Given the description of an element on the screen output the (x, y) to click on. 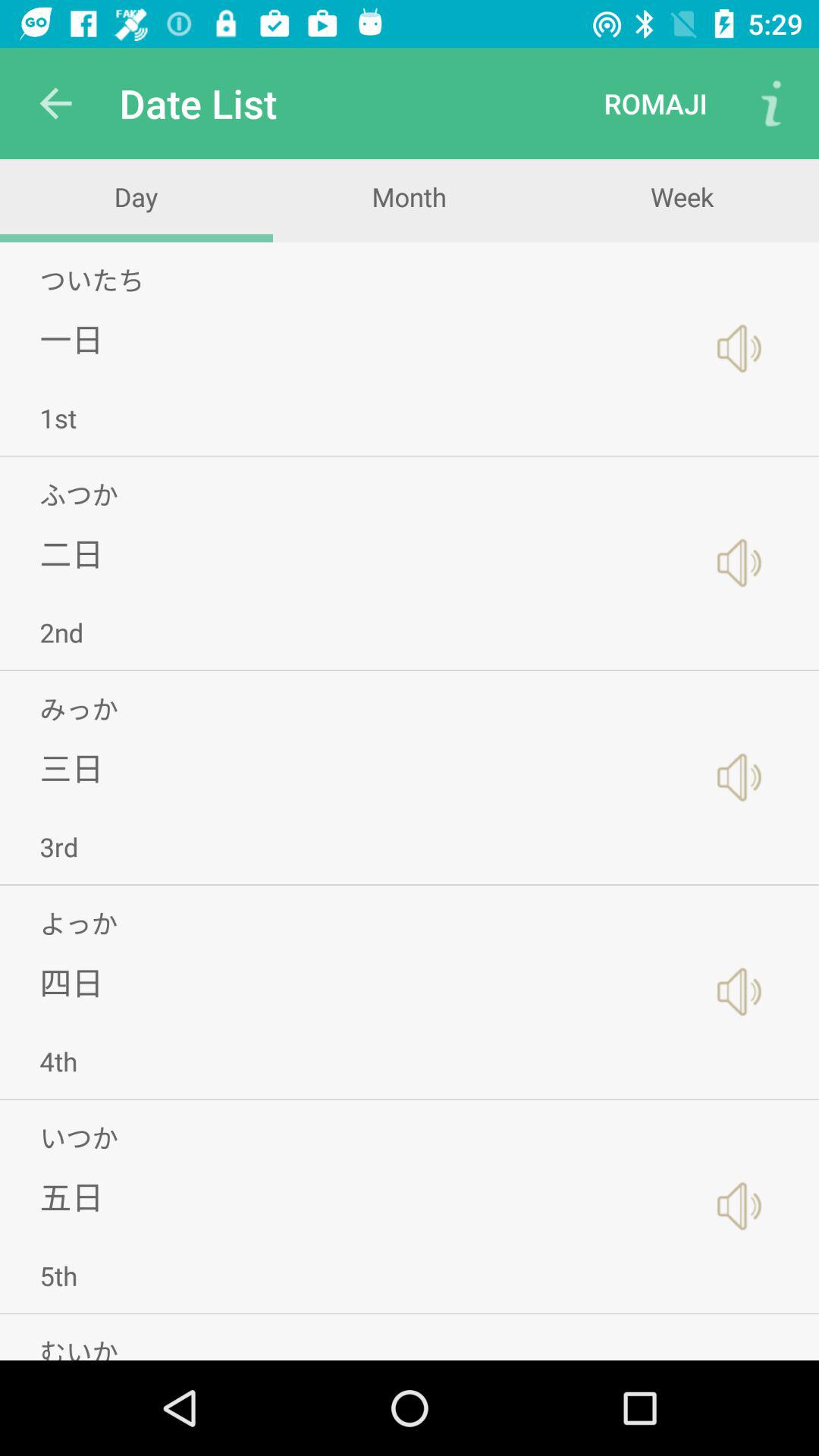
select the romaji icon (655, 103)
